Given the description of an element on the screen output the (x, y) to click on. 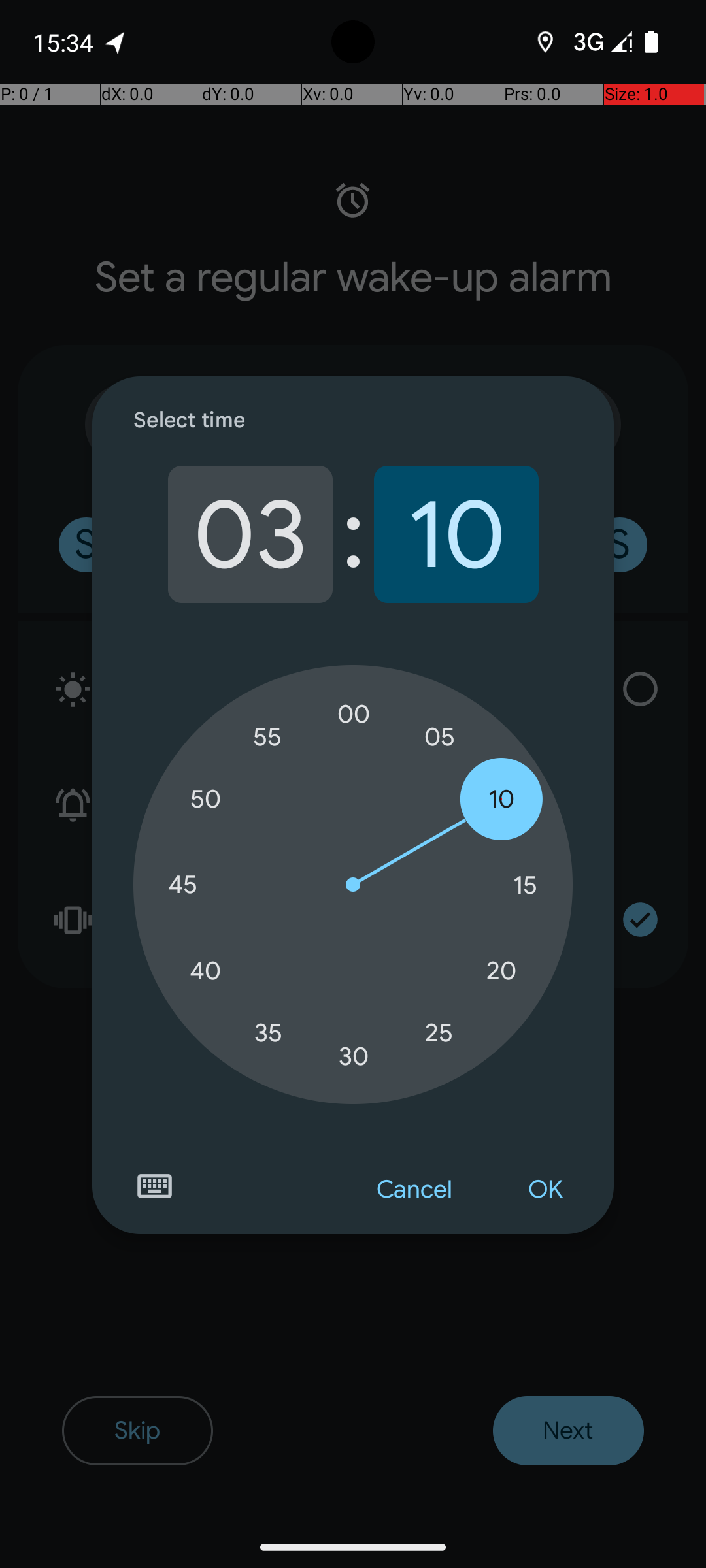
03 Element type: android.view.View (250, 534)
10 Element type: android.view.View (455, 534)
Switch to text input mode for the time input. Element type: android.widget.Button (154, 1186)
Cancel Element type: android.widget.Button (414, 1189)
55 Element type: android.widget.TextView (267, 736)
50 Element type: android.widget.TextView (205, 798)
05 Element type: android.widget.TextView (439, 736)
45 Element type: android.widget.TextView (182, 884)
15 Element type: android.widget.TextView (524, 885)
40 Element type: android.widget.TextView (205, 970)
35 Element type: android.widget.TextView (267, 1032)
30 Element type: android.widget.TextView (353, 1056)
25 Element type: android.widget.TextView (438, 1032)
20 Element type: android.widget.TextView (501, 970)
